Given the description of an element on the screen output the (x, y) to click on. 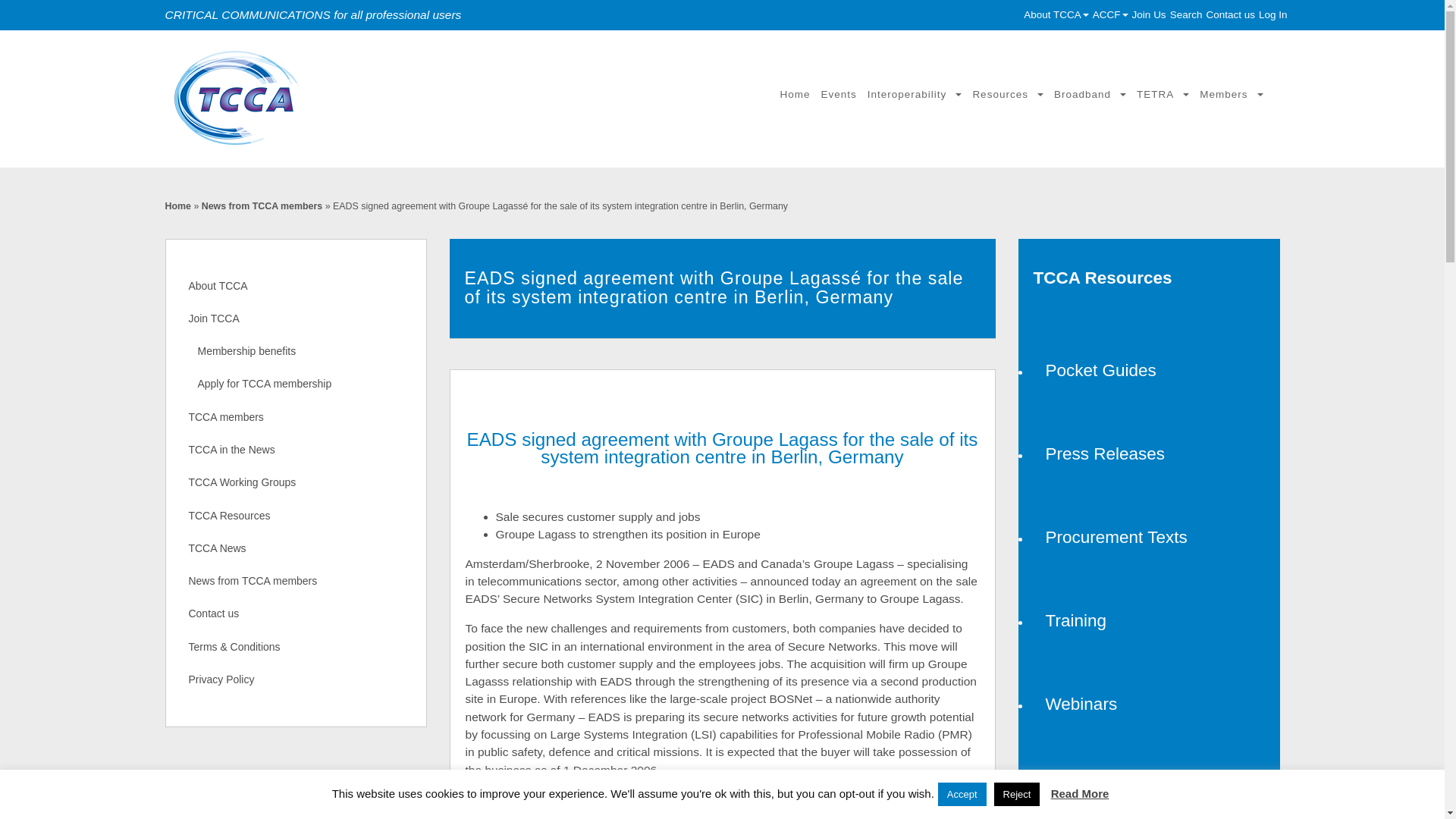
About TCCA (1056, 14)
TCCA resources (1148, 277)
Resources (1007, 94)
Log In (1273, 14)
Broadband (1089, 94)
Contact us (1230, 14)
CRITICAL COMMUNICATIONS for all professional users (351, 98)
Join Us (1149, 14)
ACCF (1110, 14)
Interoperability (914, 94)
Search (1186, 14)
